Given the description of an element on the screen output the (x, y) to click on. 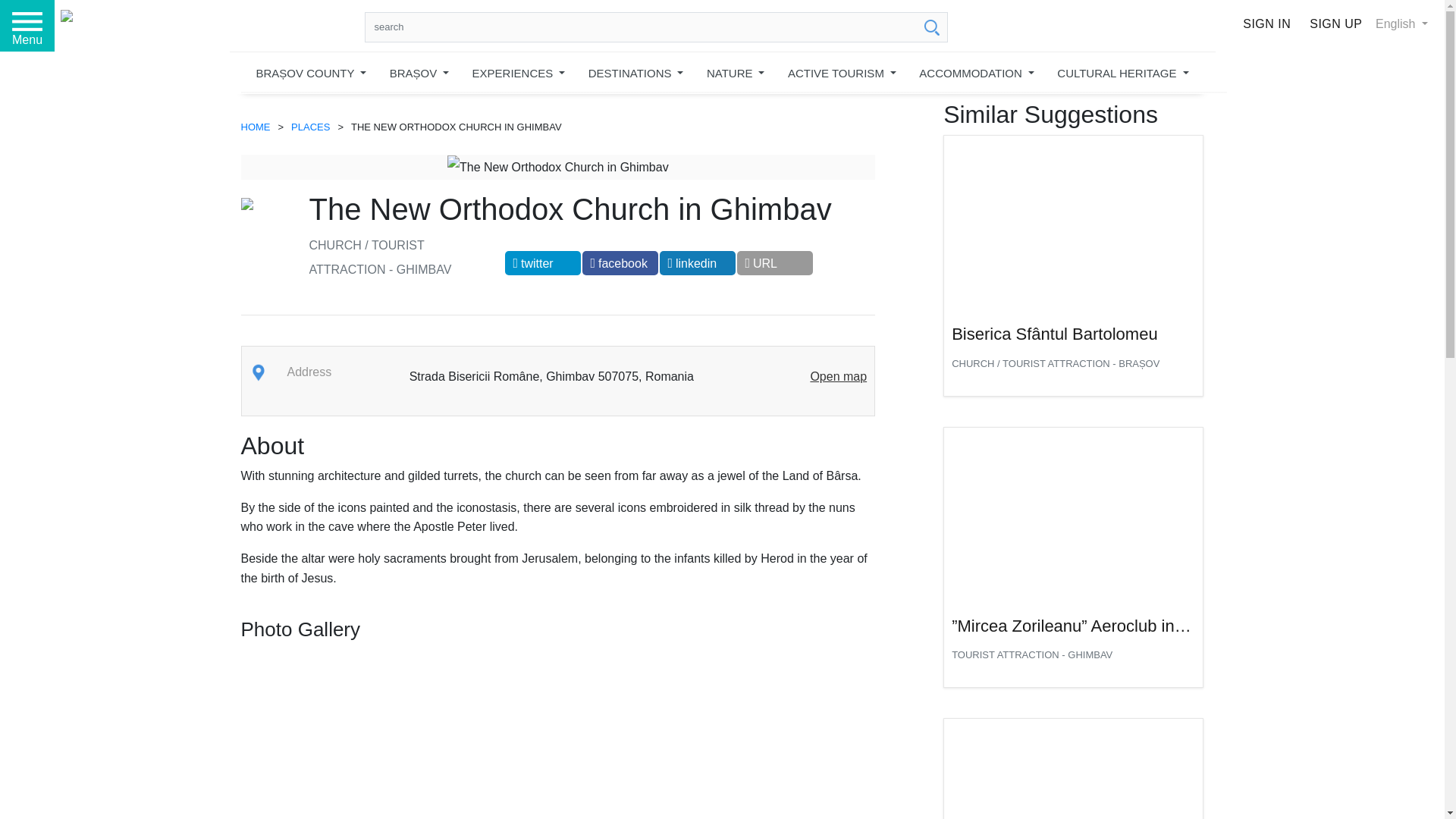
Share to Linkedin (697, 262)
Share URL (774, 262)
Share to Twitter (542, 262)
Menu (27, 25)
Share to Facebook (620, 262)
